Given the description of an element on the screen output the (x, y) to click on. 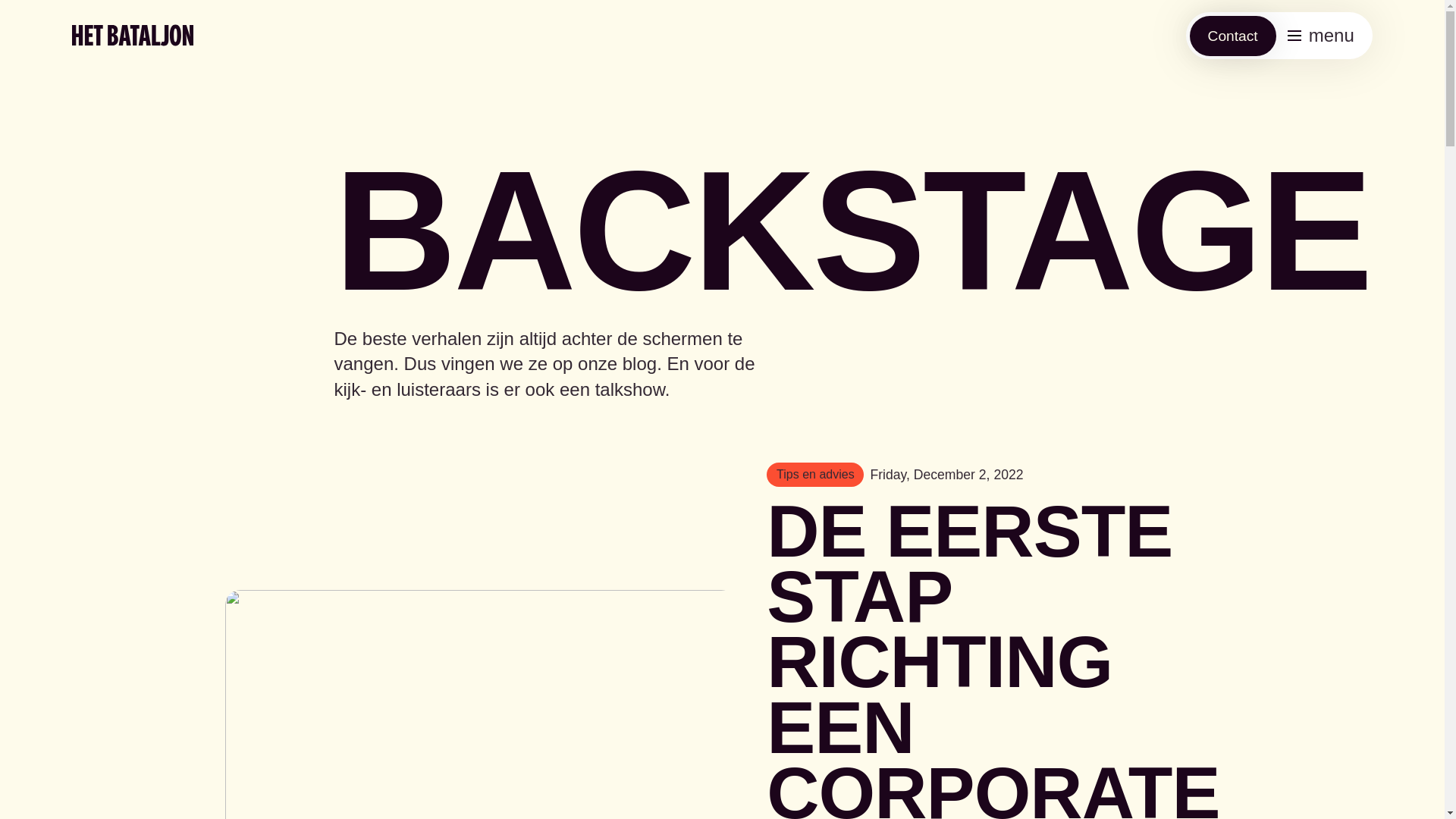
Contact Element type: text (1232, 35)
